Given the description of an element on the screen output the (x, y) to click on. 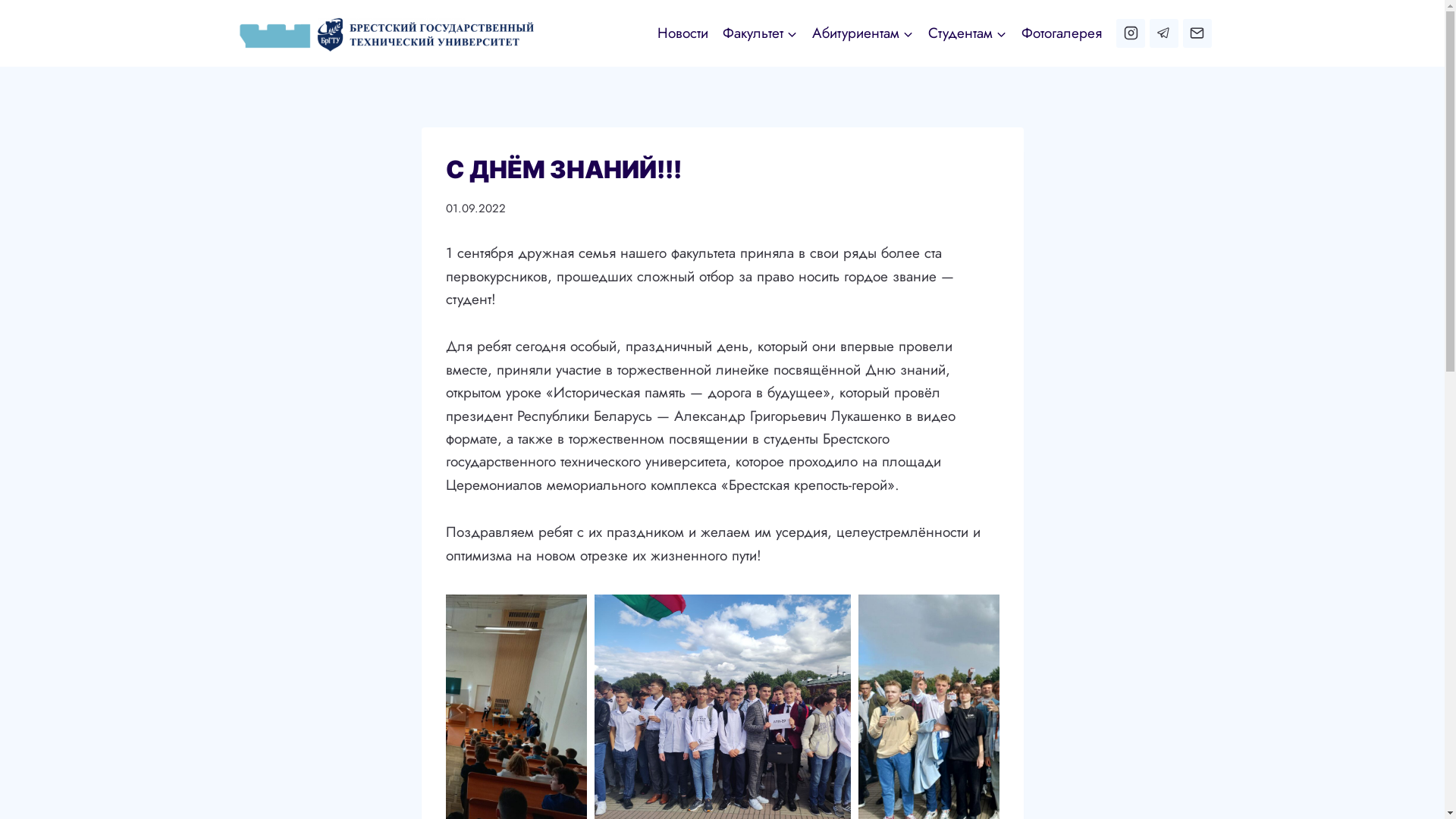
Next Element type: text (987, 708)
Previous Element type: text (456, 708)
